Given the description of an element on the screen output the (x, y) to click on. 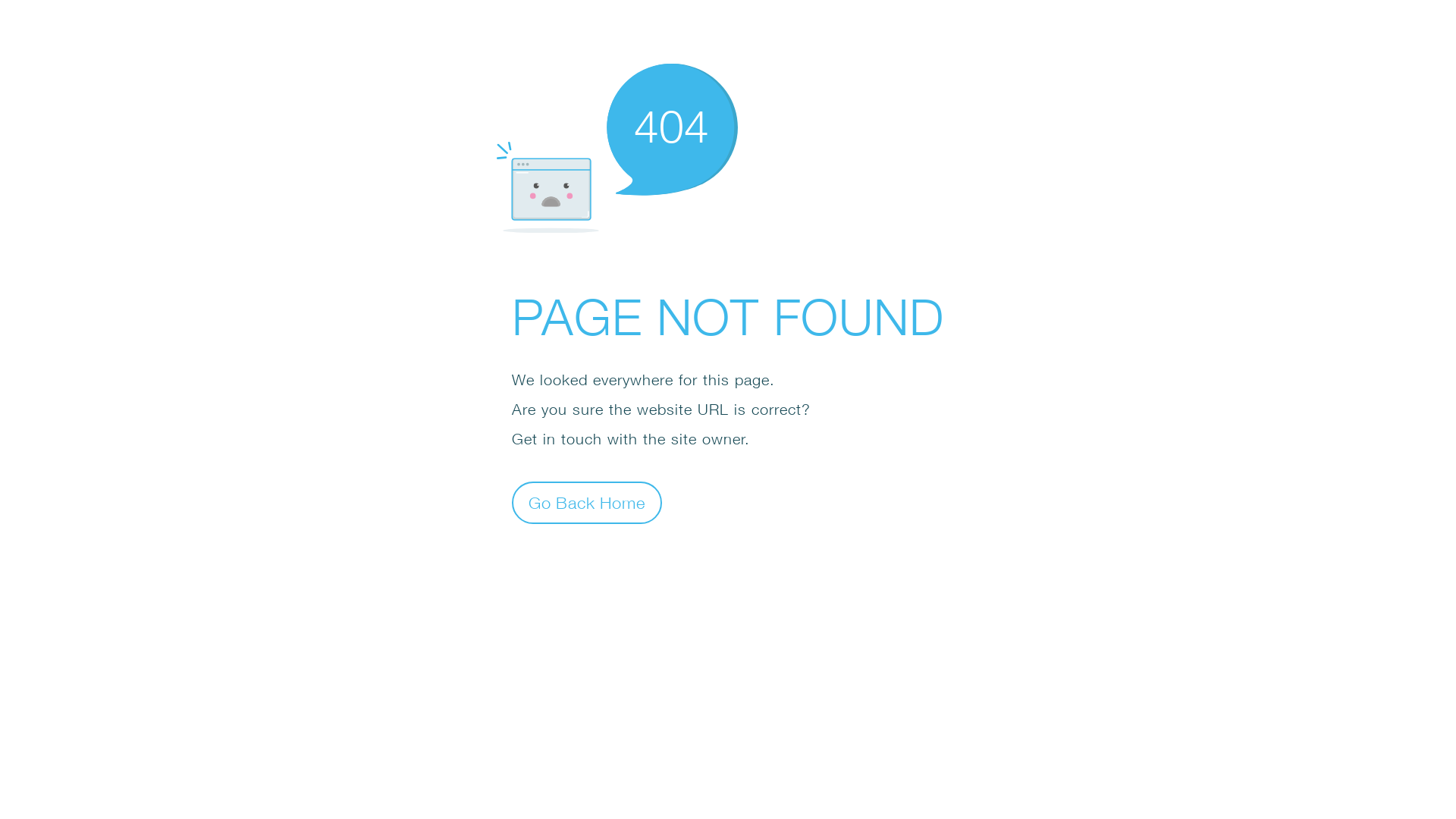
Go Back Home Element type: text (586, 502)
